Given the description of an element on the screen output the (x, y) to click on. 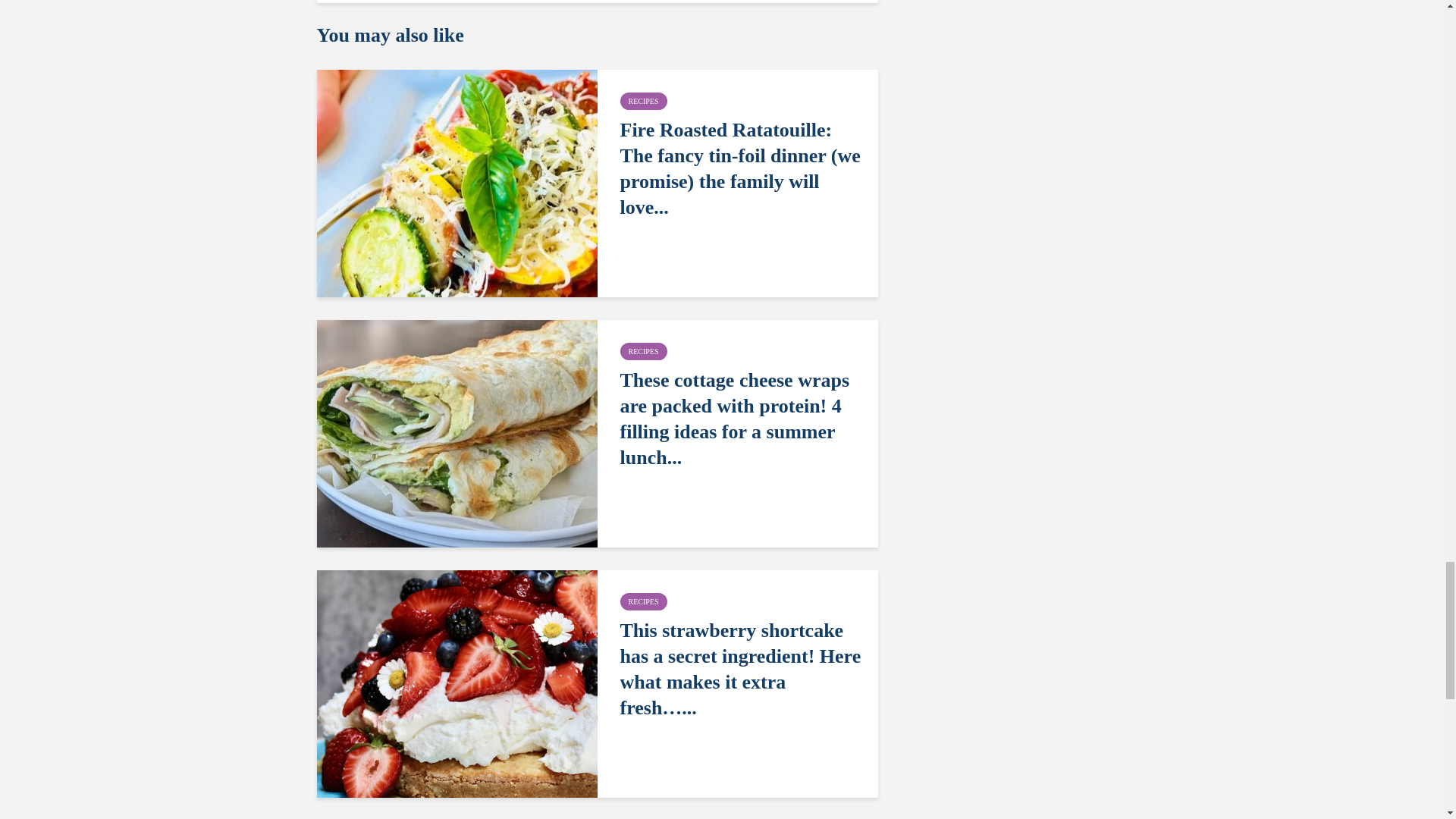
RECIPES (643, 100)
RECIPES (643, 351)
RECIPES (643, 601)
